Given the description of an element on the screen output the (x, y) to click on. 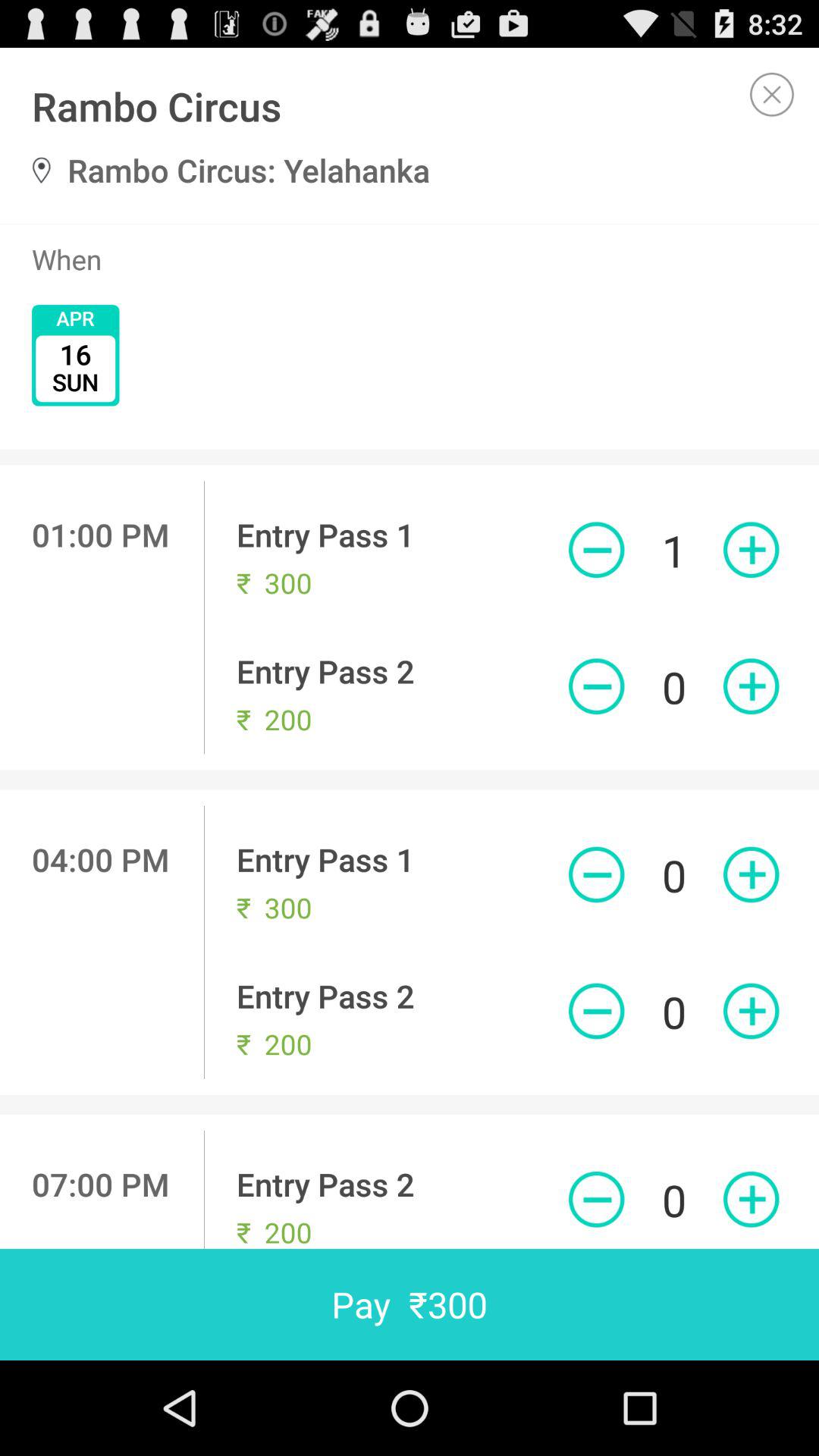
purchase entry pass (751, 1011)
